Given the description of an element on the screen output the (x, y) to click on. 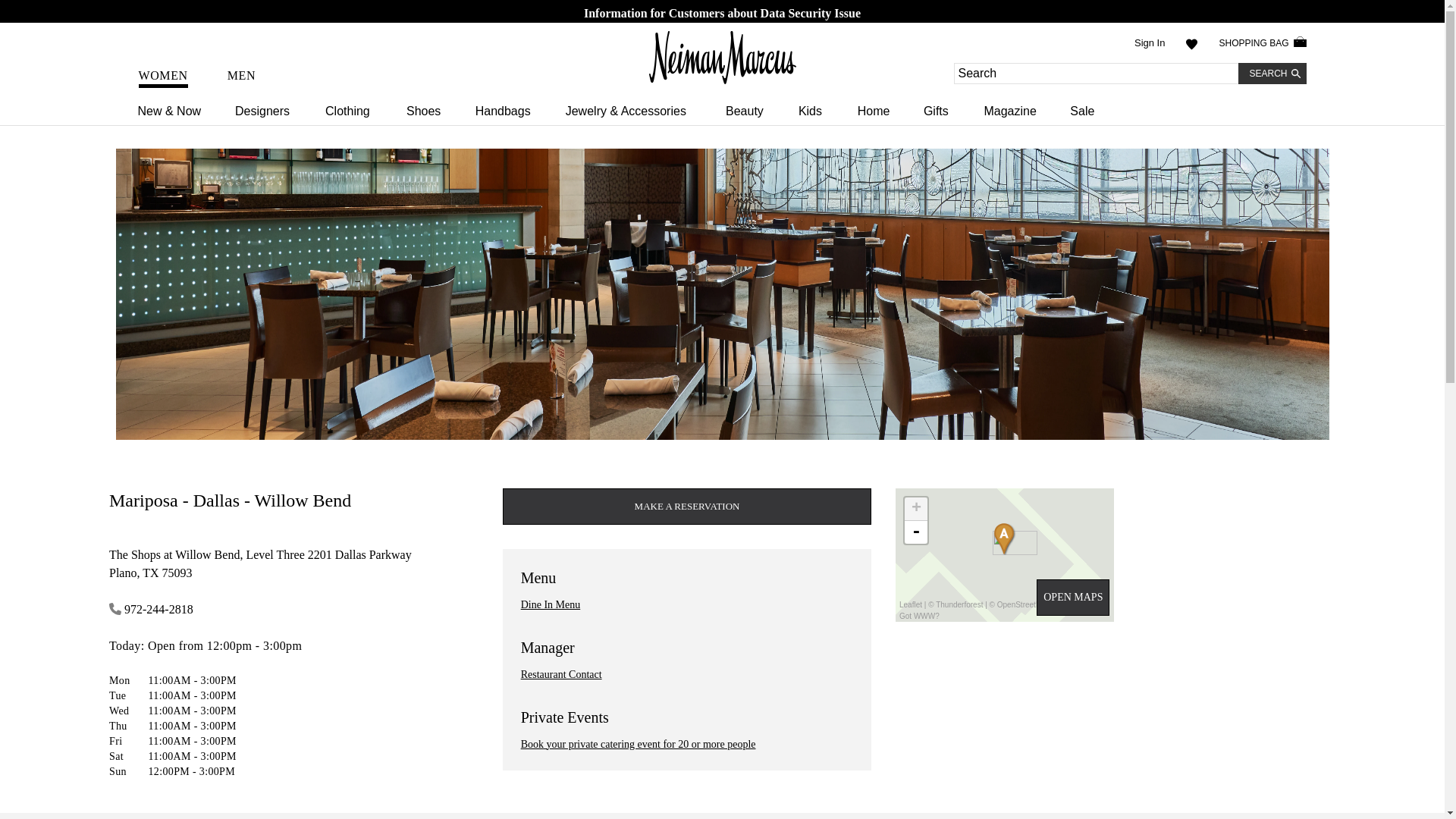
Information for Customers about Data Security Issue (721, 13)
map (1004, 554)
submit button (1271, 73)
search (1271, 73)
search box (1097, 73)
MEN (241, 76)
search (1271, 73)
search (1271, 73)
MEN (241, 74)
Designers (278, 111)
Sign In (1149, 43)
WOMEN (162, 76)
SHOPPING BAG (1262, 43)
